Given the description of an element on the screen output the (x, y) to click on. 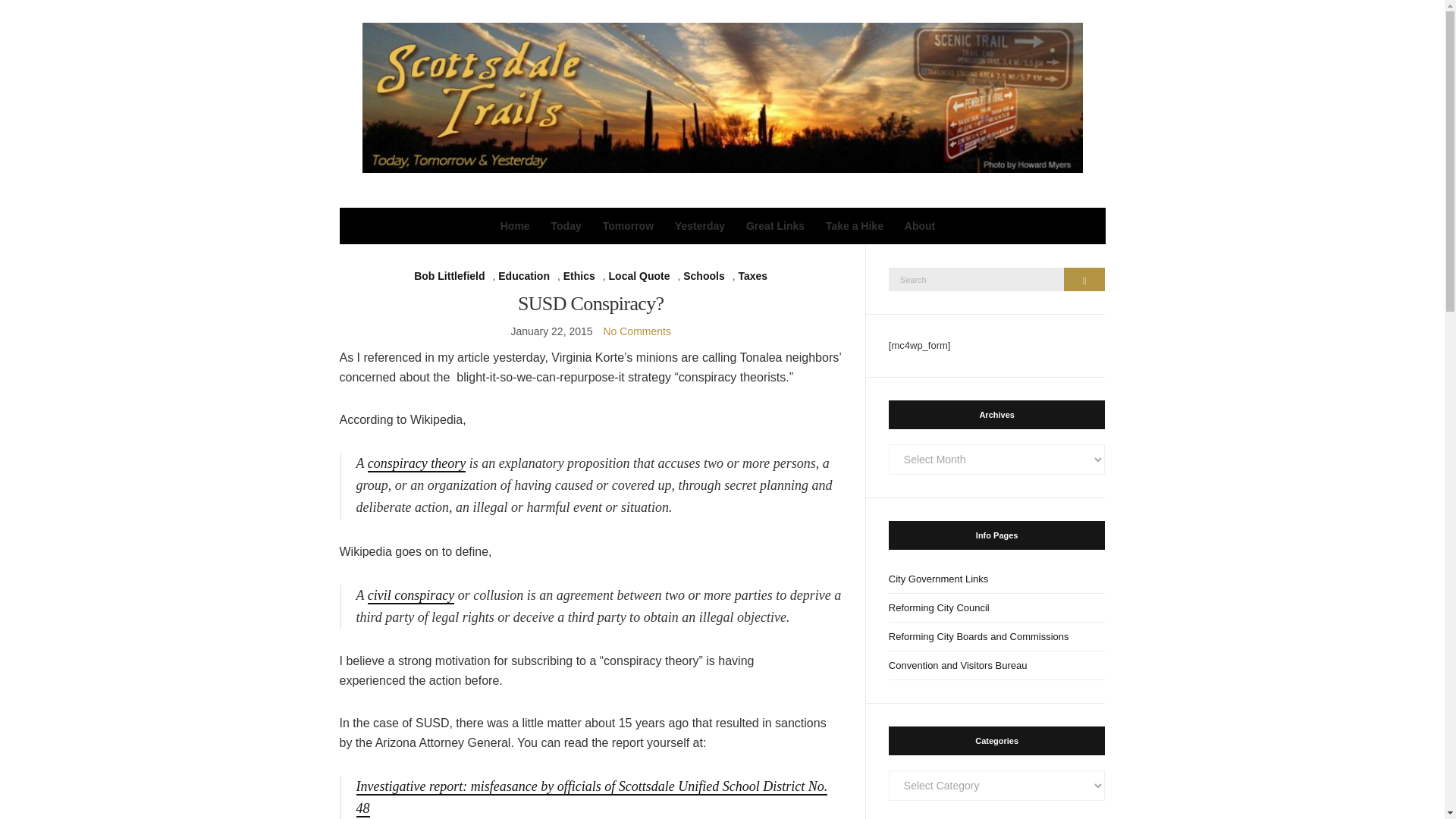
Schools (702, 276)
conspiracy theory (416, 463)
Today (565, 226)
Take a Hike (854, 226)
No Comments (635, 331)
Taxes (752, 276)
Home (514, 226)
Local Quote (638, 276)
Education (523, 276)
About (919, 226)
Great Links (775, 226)
Yesterday (700, 226)
Tomorrow (627, 226)
Ethics (579, 276)
civil conspiracy (411, 596)
